Given the description of an element on the screen output the (x, y) to click on. 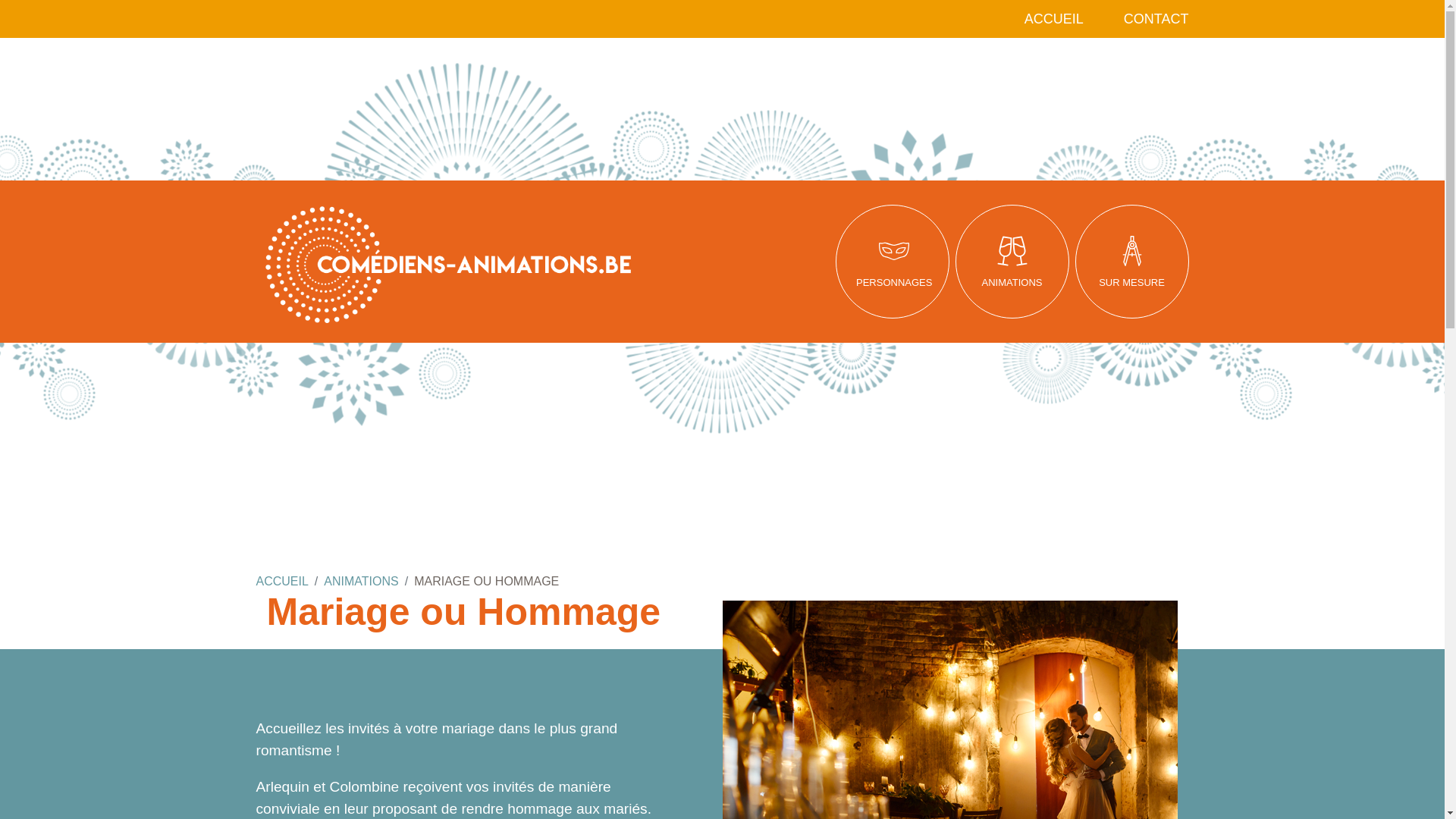
SUR MESURE Element type: text (1132, 261)
CONTACT Element type: text (1156, 18)
PERSONNAGES Element type: text (893, 261)
ACCUEIL Element type: text (1053, 18)
Aller au contenu Element type: text (0, 0)
ANIMATIONS Element type: text (360, 580)
ACCUEIL Element type: text (282, 580)
ANIMATIONS Element type: text (1011, 261)
